Given the description of an element on the screen output the (x, y) to click on. 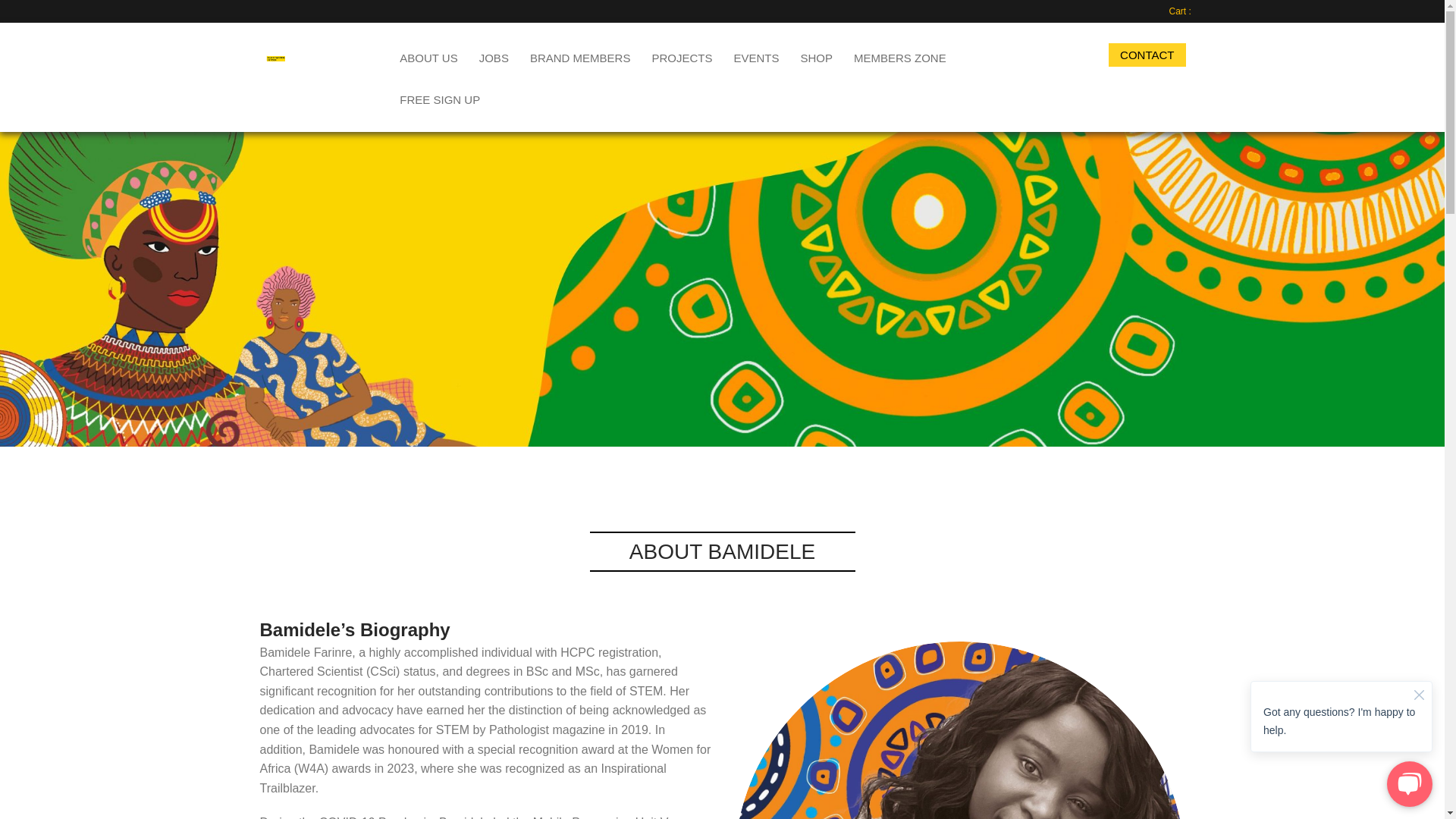
JOBS (493, 56)
PROJECTS (681, 56)
bamidele-farinre (959, 730)
Cart : (1181, 10)
MEMBERS ZONE (899, 56)
SHOP (816, 56)
ABOUT US (427, 56)
EVENTS (755, 56)
BRAND MEMBERS (580, 56)
